Given the description of an element on the screen output the (x, y) to click on. 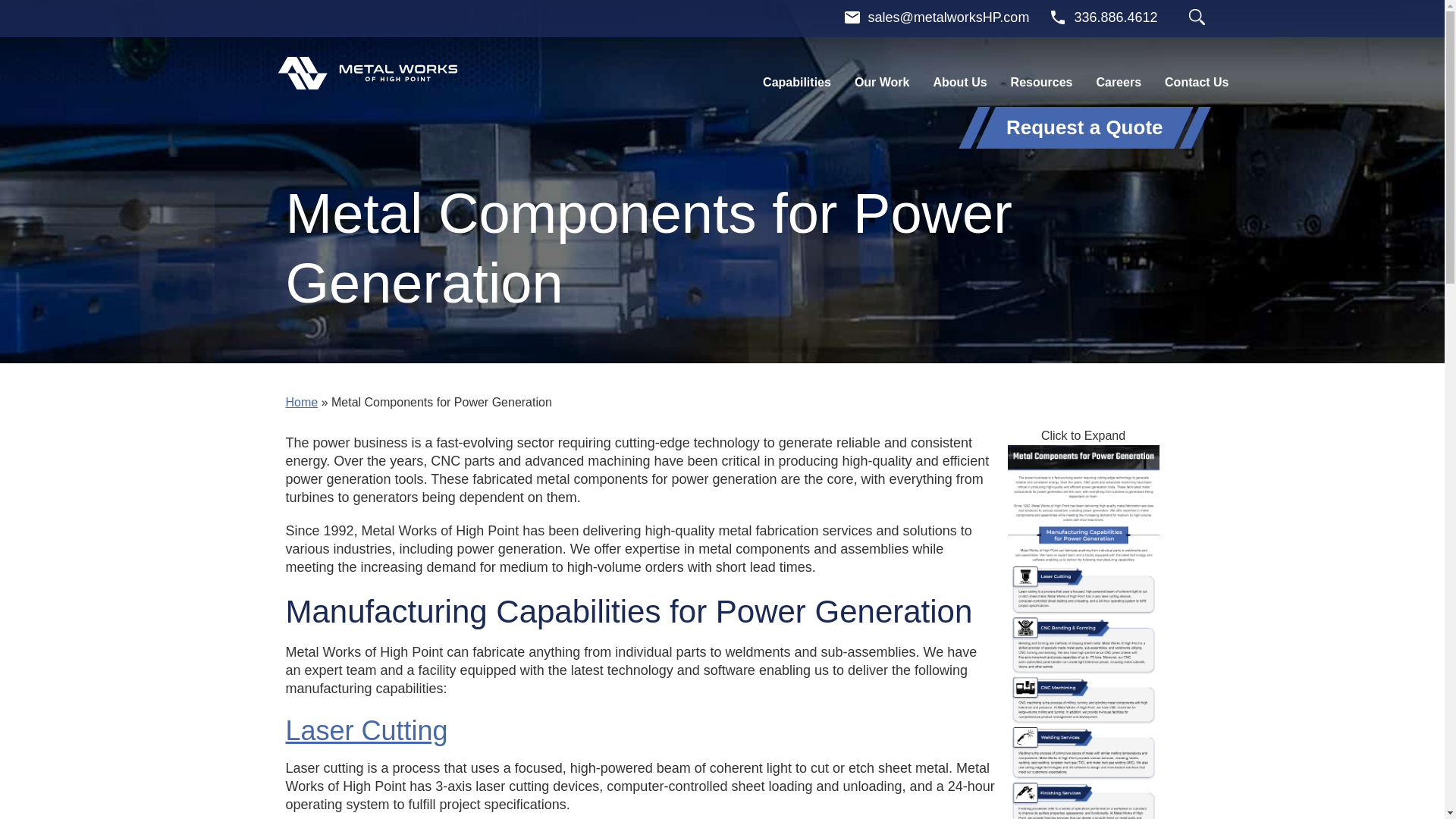
Home (301, 401)
Request a Quote (1084, 127)
About Us (959, 81)
Our Work (881, 81)
Careers (1118, 81)
Contact Us (1196, 81)
Capabilities (797, 81)
Search (1197, 17)
Metal Works of High Point, Inc. (367, 72)
Laser Cutting (365, 730)
Resources (1041, 81)
336.886.4612 (1103, 16)
